Given the description of an element on the screen output the (x, y) to click on. 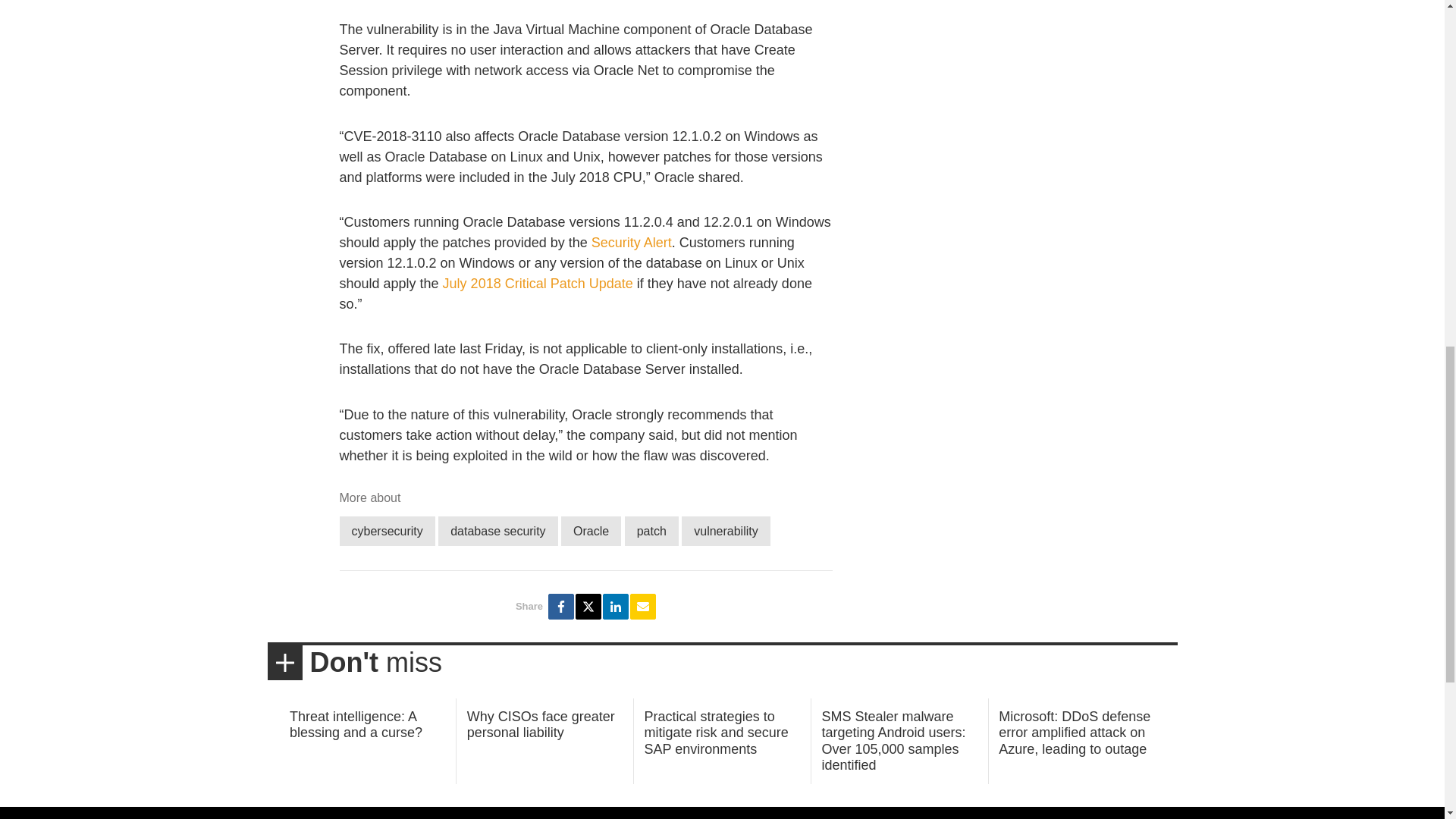
vulnerability (725, 531)
Security Alert (631, 242)
July 2018 Critical Patch Update (537, 283)
cybersecurity (387, 531)
Oracle (590, 531)
patch (651, 531)
database security (497, 531)
vulnerability (725, 531)
cybersecurity (387, 531)
Oracle (590, 531)
patch (651, 531)
database security (497, 531)
